Given the description of an element on the screen output the (x, y) to click on. 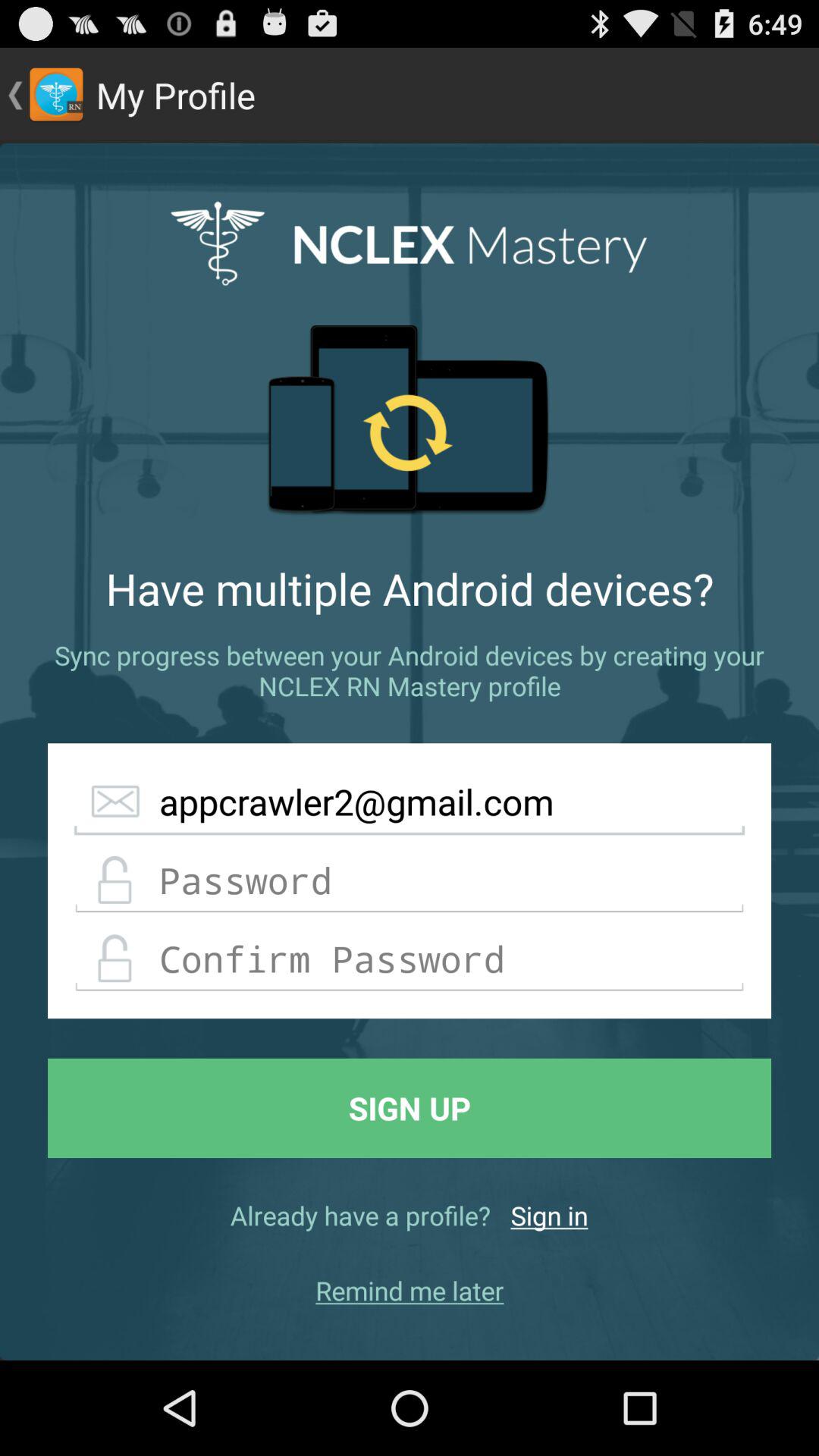
enter password (409, 880)
